Given the description of an element on the screen output the (x, y) to click on. 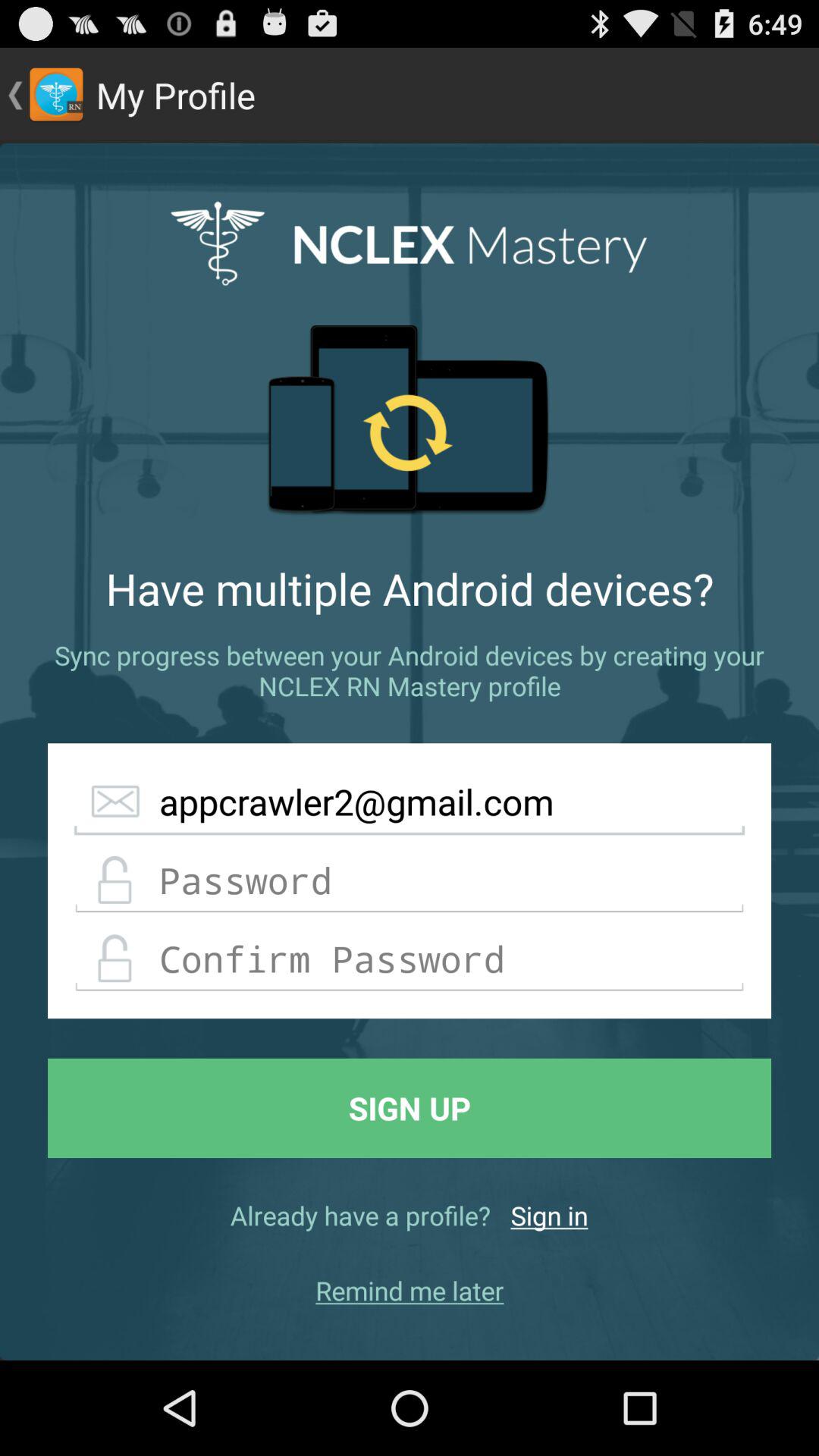
enter password (409, 880)
